Given the description of an element on the screen output the (x, y) to click on. 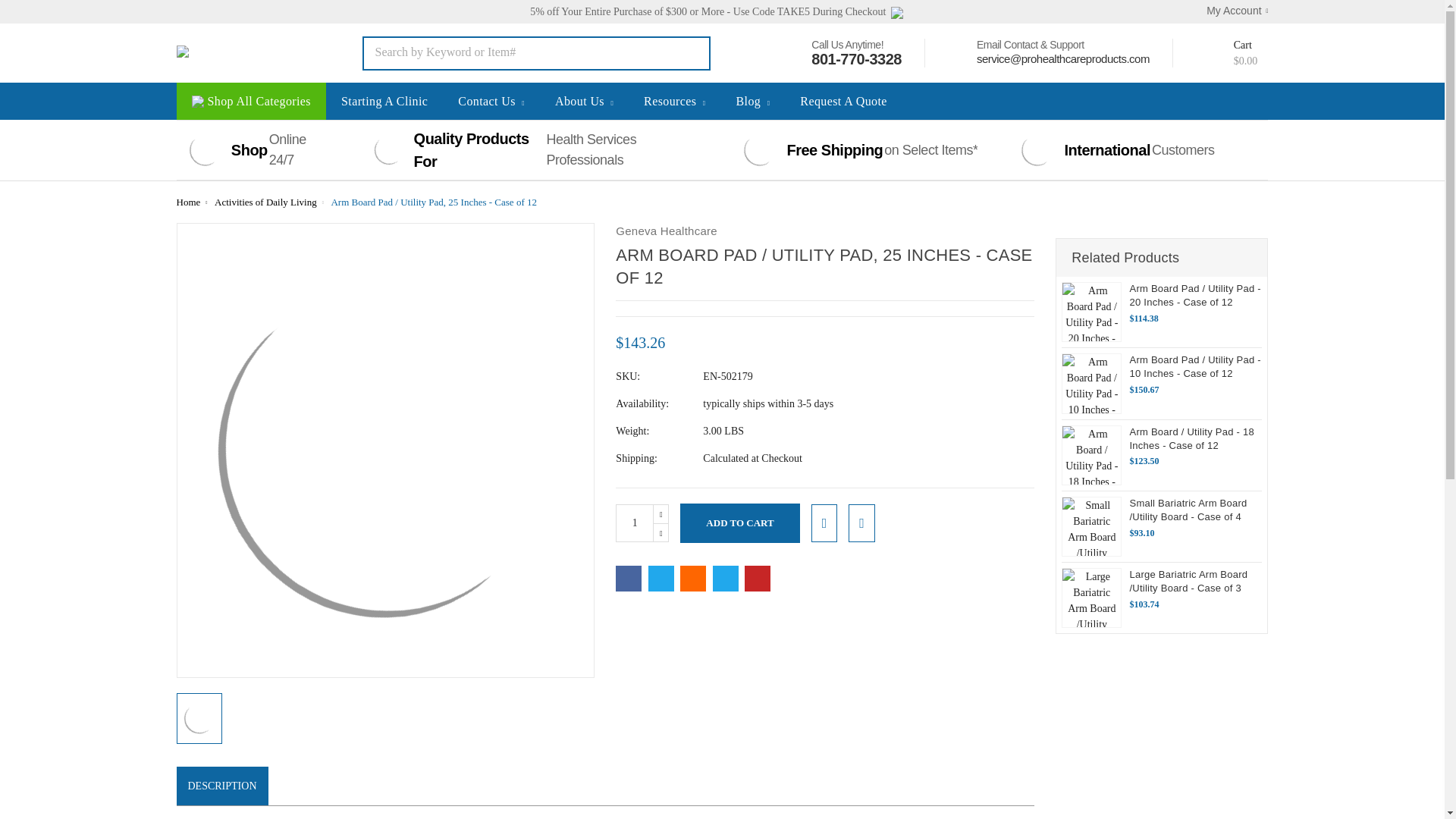
My Account (1229, 11)
prohealthcareproducts.com (240, 53)
Add to Cart (739, 522)
1 (634, 523)
